Given the description of an element on the screen output the (x, y) to click on. 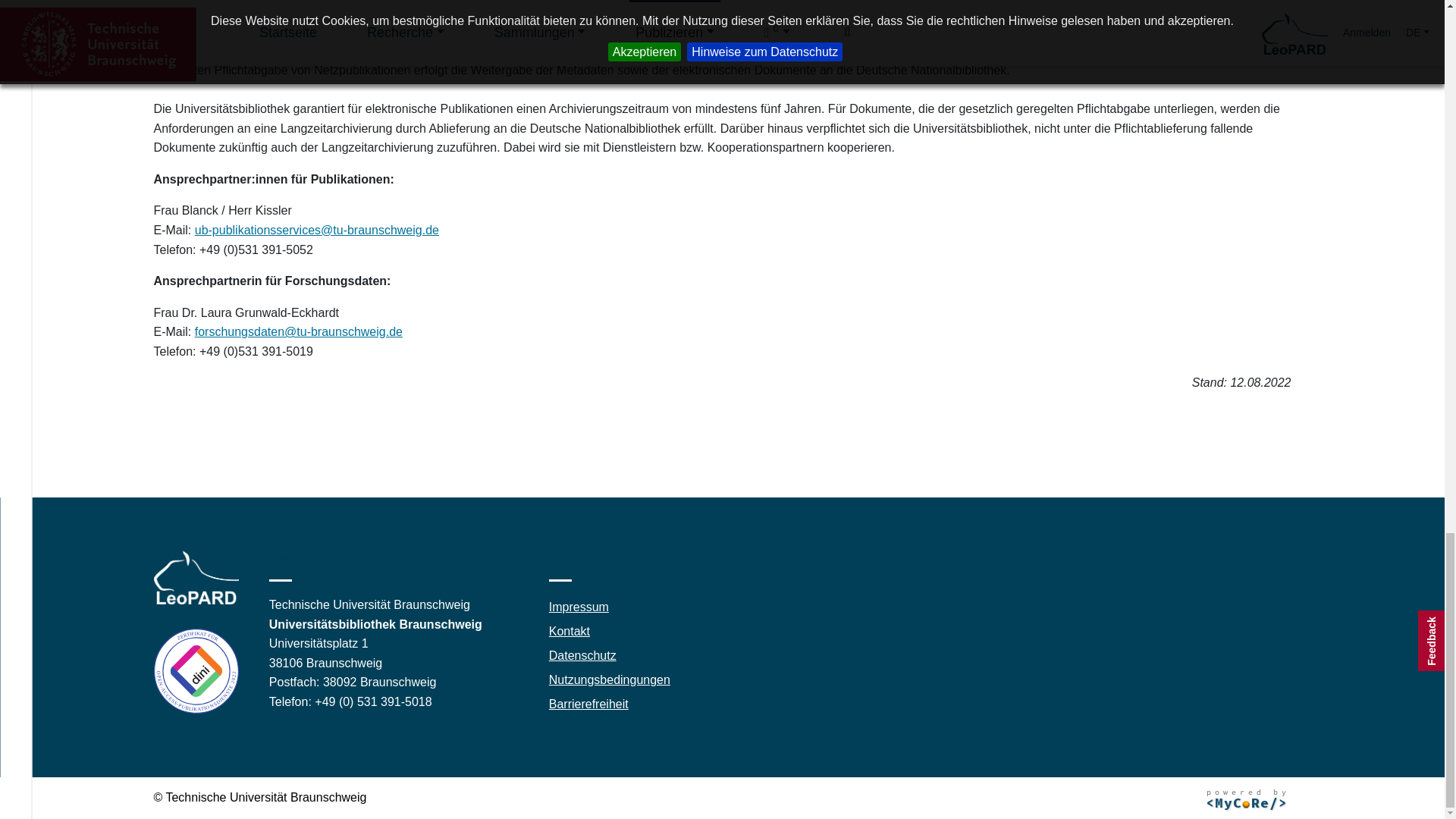
MyCoRe 2023.06.2-SNAPSHOT 2023.06.x:v2023.06.1-32-g281b879 (1244, 799)
